Given the description of an element on the screen output the (x, y) to click on. 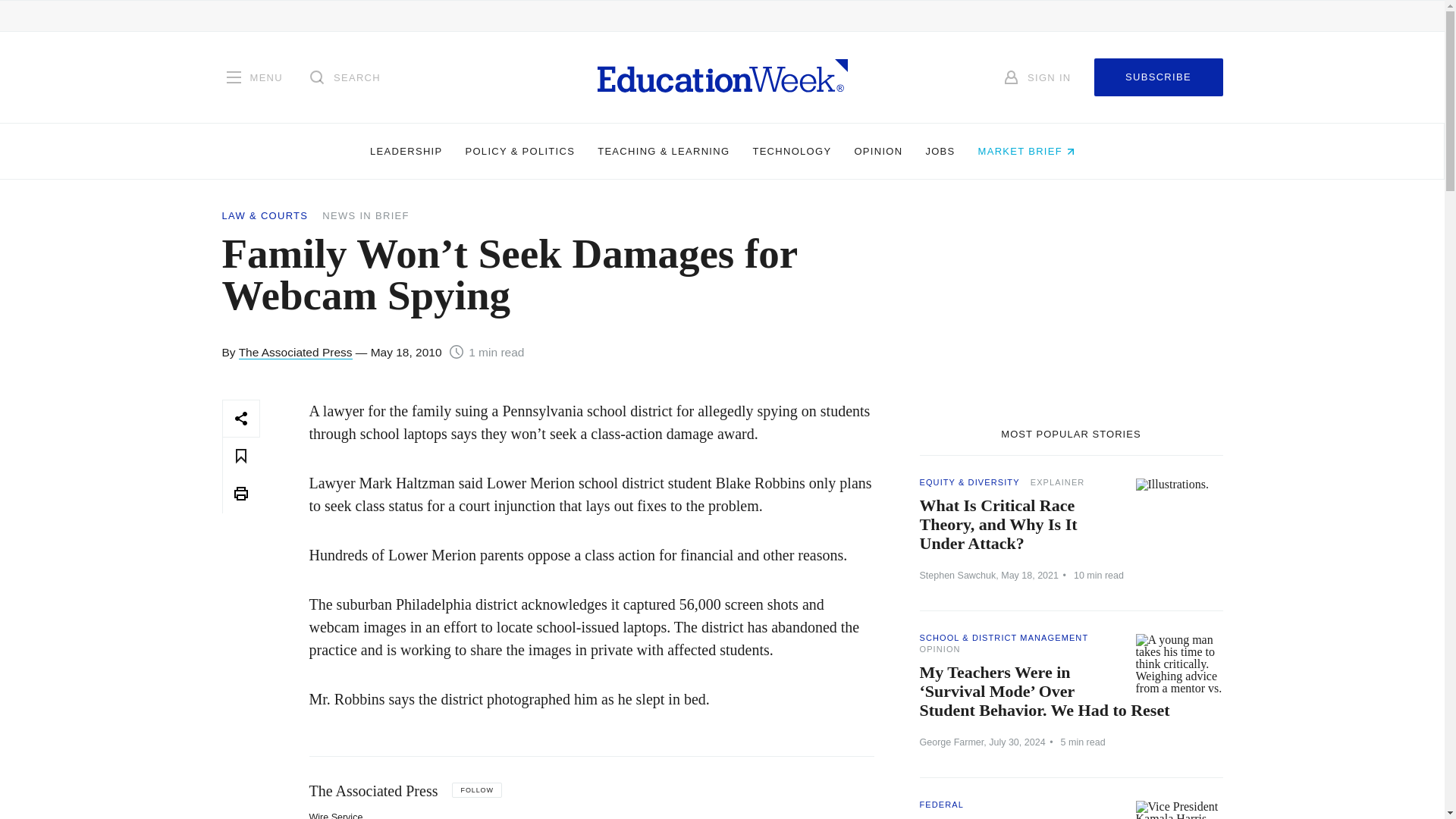
Homepage (721, 76)
